Given the description of an element on the screen output the (x, y) to click on. 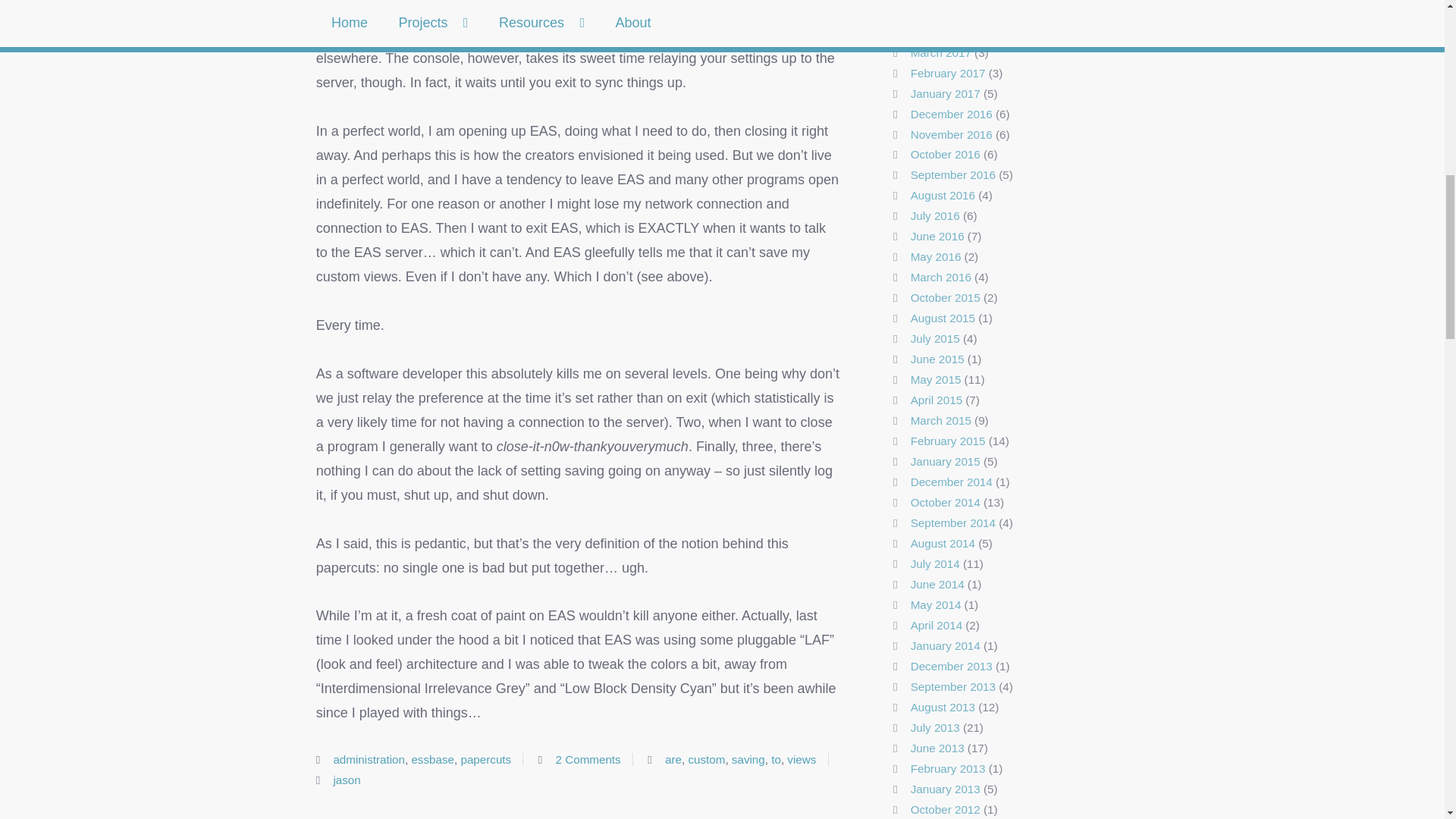
Posts by jason (346, 779)
essbase (432, 758)
administration (368, 758)
